Given the description of an element on the screen output the (x, y) to click on. 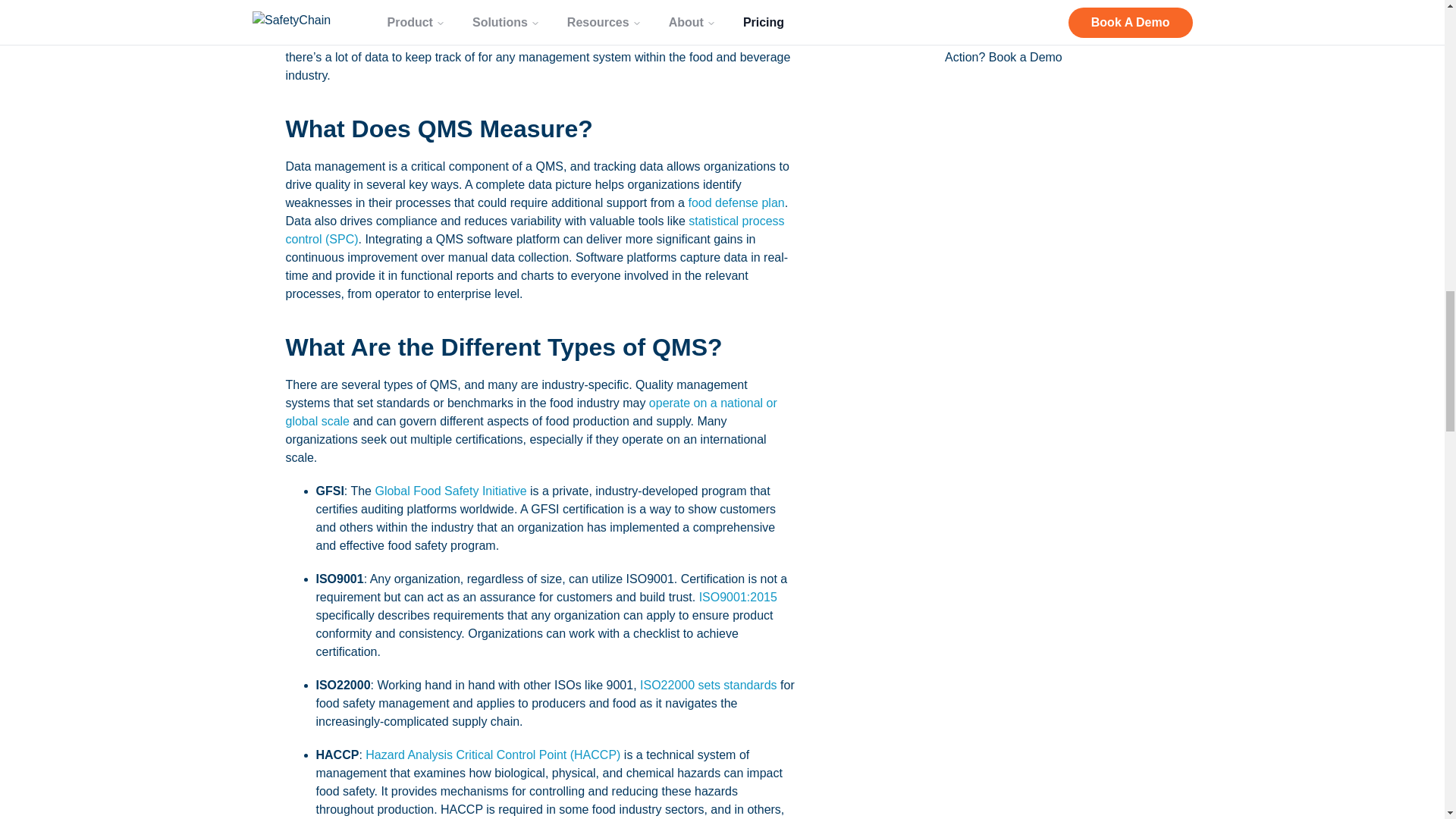
ISO22000 sets standards (708, 684)
operate on a national or global scale (530, 411)
food defense plan (735, 202)
Global Food Safety Initiative (449, 490)
ISO9001:2015 (737, 596)
